Given the description of an element on the screen output the (x, y) to click on. 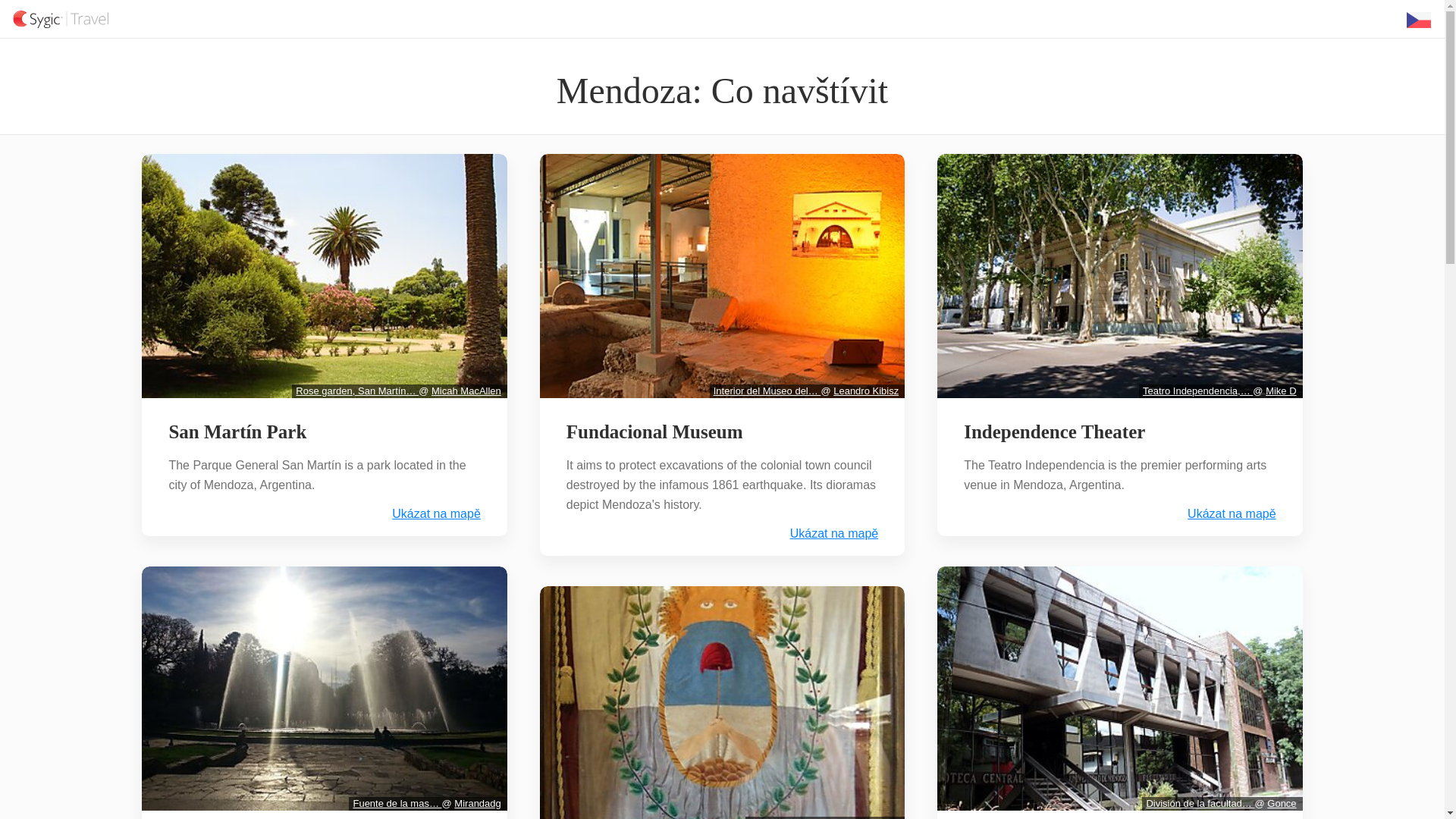
Mirandadg (477, 803)
Leandro Kibisz (865, 390)
ALE! (887, 818)
Micah MacAllen (465, 390)
Fundacional Museum (655, 431)
